Given the description of an element on the screen output the (x, y) to click on. 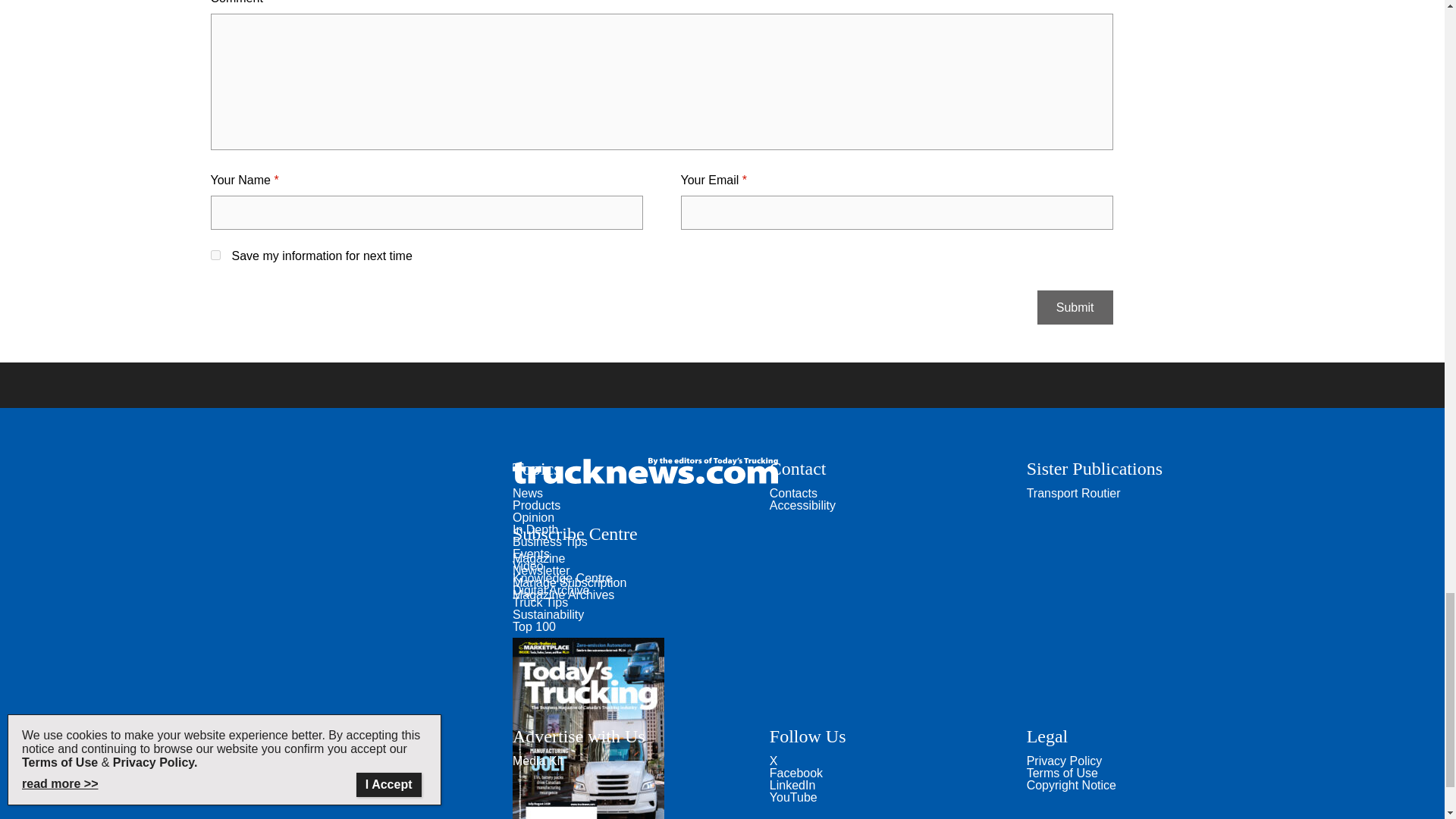
yes (216, 255)
Submit (1074, 307)
